Given the description of an element on the screen output the (x, y) to click on. 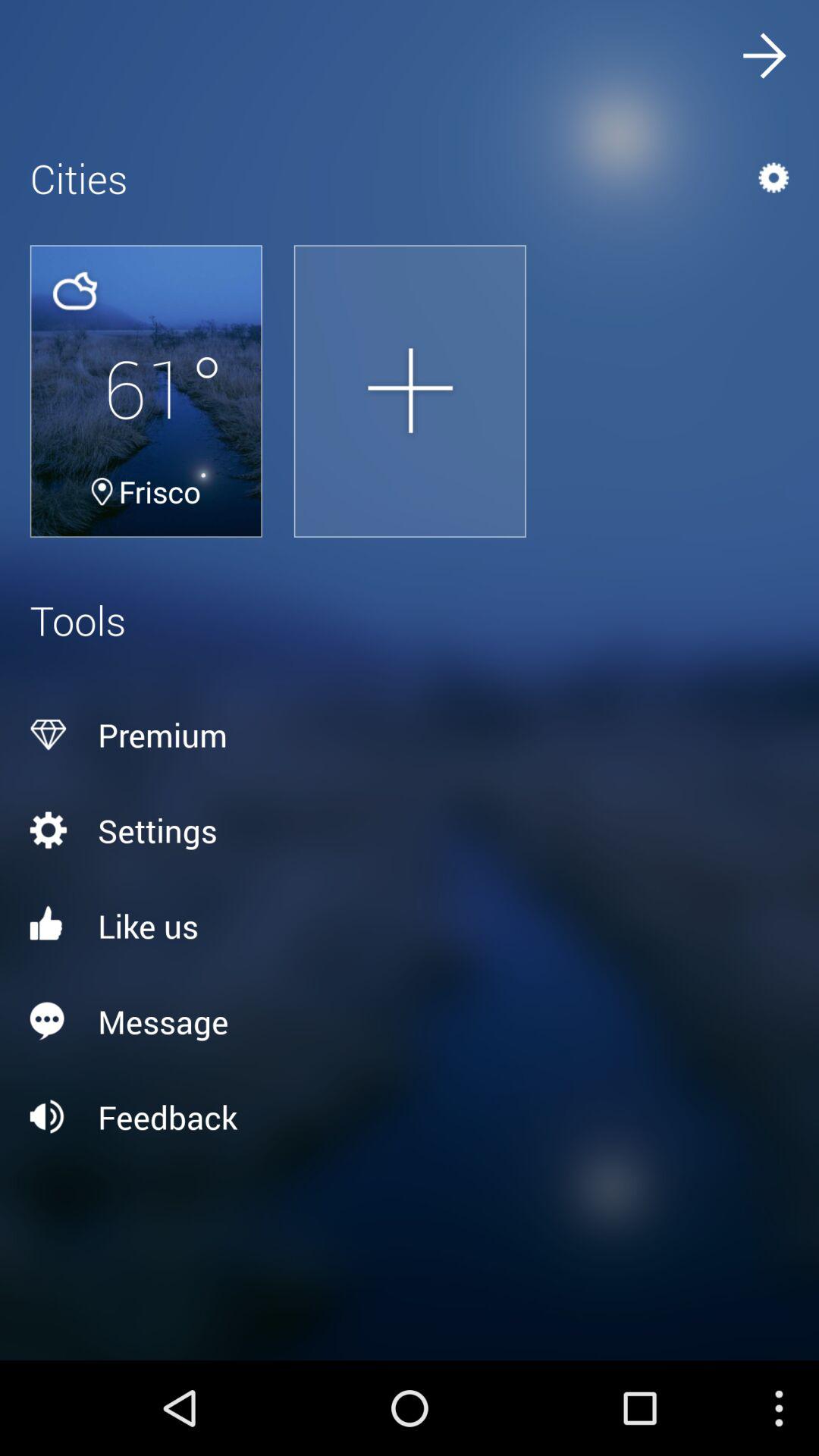
select the text below tools (409, 735)
select the wheather icon which is below cities (74, 290)
click on the settings icon top right corner of the page (735, 177)
click on setting button (409, 830)
click on like us option (409, 925)
go to right of 61 (410, 390)
